Given the description of an element on the screen output the (x, y) to click on. 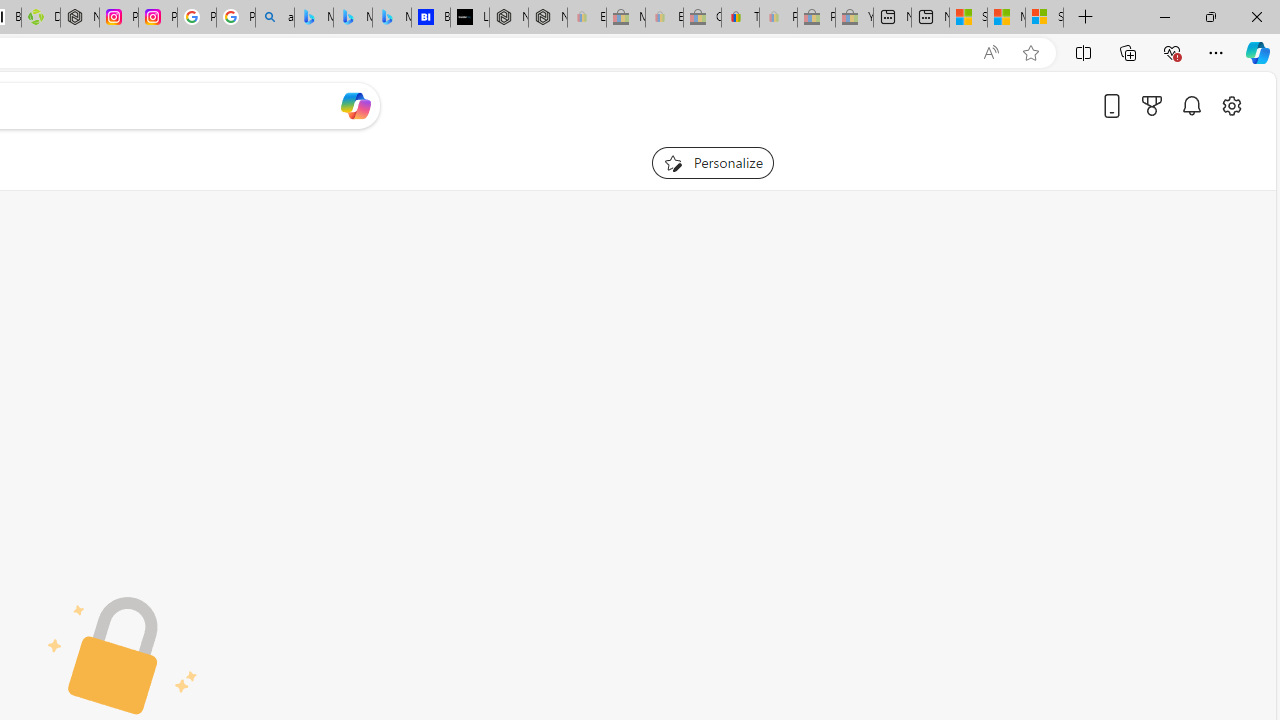
Shanghai, China hourly forecast | Microsoft Weather (967, 17)
Microsoft Bing Travel - Shangri-La Hotel Bangkok (391, 17)
Press Room - eBay Inc. - Sleeping (815, 17)
alabama high school quarterback dies - Search (275, 17)
Microsoft Bing Travel - Flights from Hong Kong to Bangkok (313, 17)
Descarga Driver Updater (40, 17)
